Given the description of an element on the screen output the (x, y) to click on. 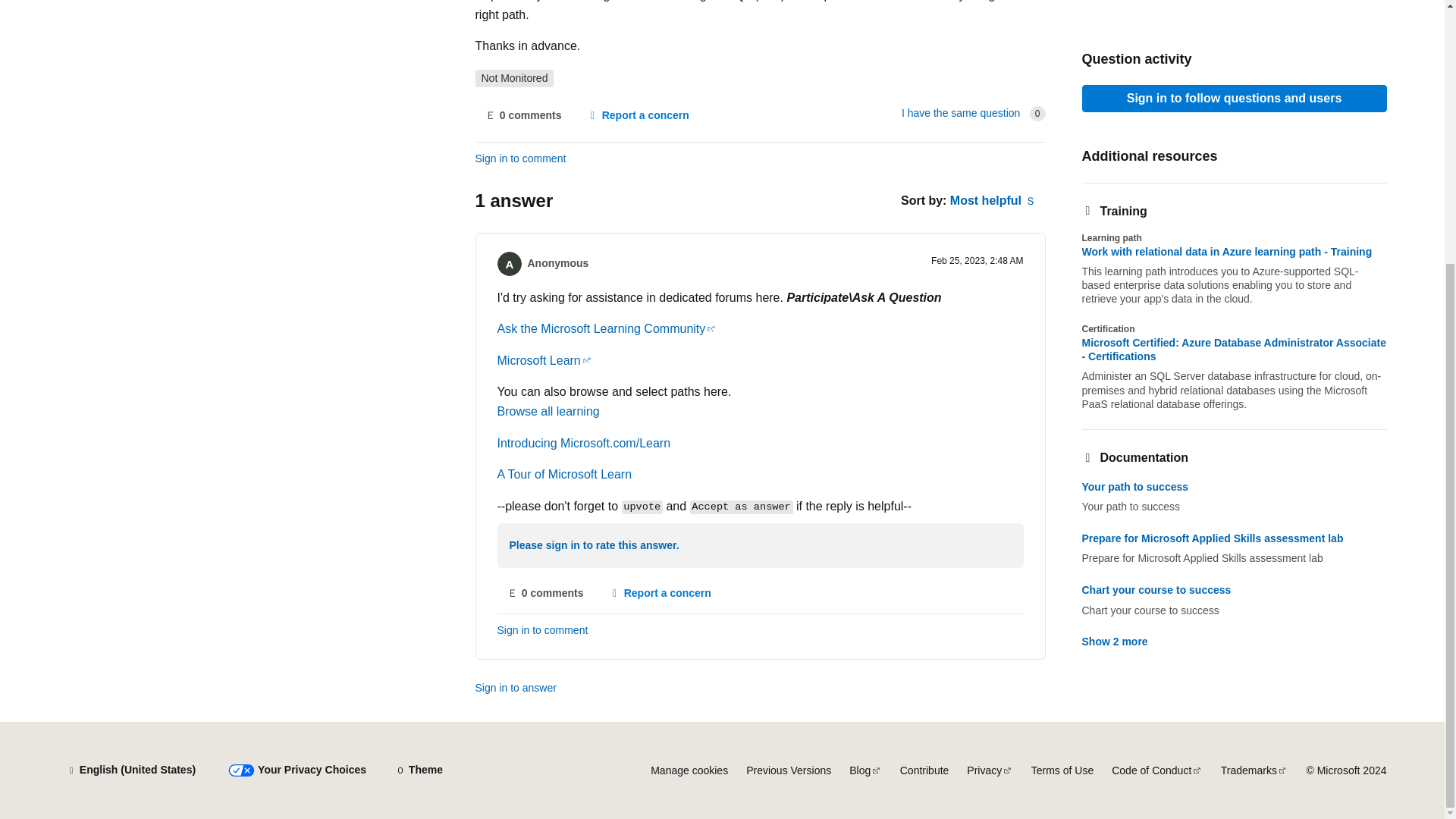
No comments (522, 115)
No comments (545, 593)
You have the same or similar question (960, 112)
Theme (419, 770)
Report a concern (659, 593)
Report a concern (637, 115)
